Given the description of an element on the screen output the (x, y) to click on. 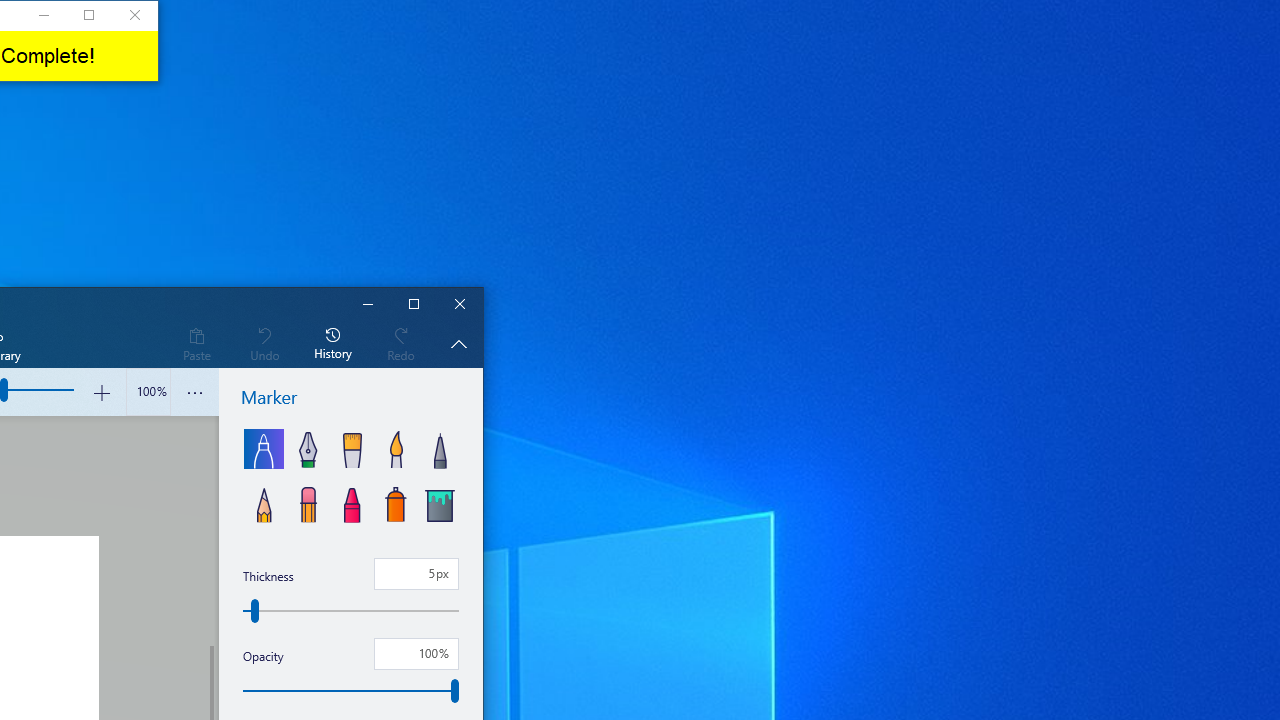
Spray can (396, 502)
Thickness, pixels (416, 573)
Calligraphy pen (307, 448)
Vertical Large Decrease (210, 530)
Thickness, pixels (351, 610)
Redo (401, 343)
History (333, 343)
Zoom in (101, 391)
Opacity, percent (351, 691)
Marker (264, 448)
Undo (264, 343)
Crayon (351, 502)
Paste (196, 343)
Fill (439, 502)
